Given the description of an element on the screen output the (x, y) to click on. 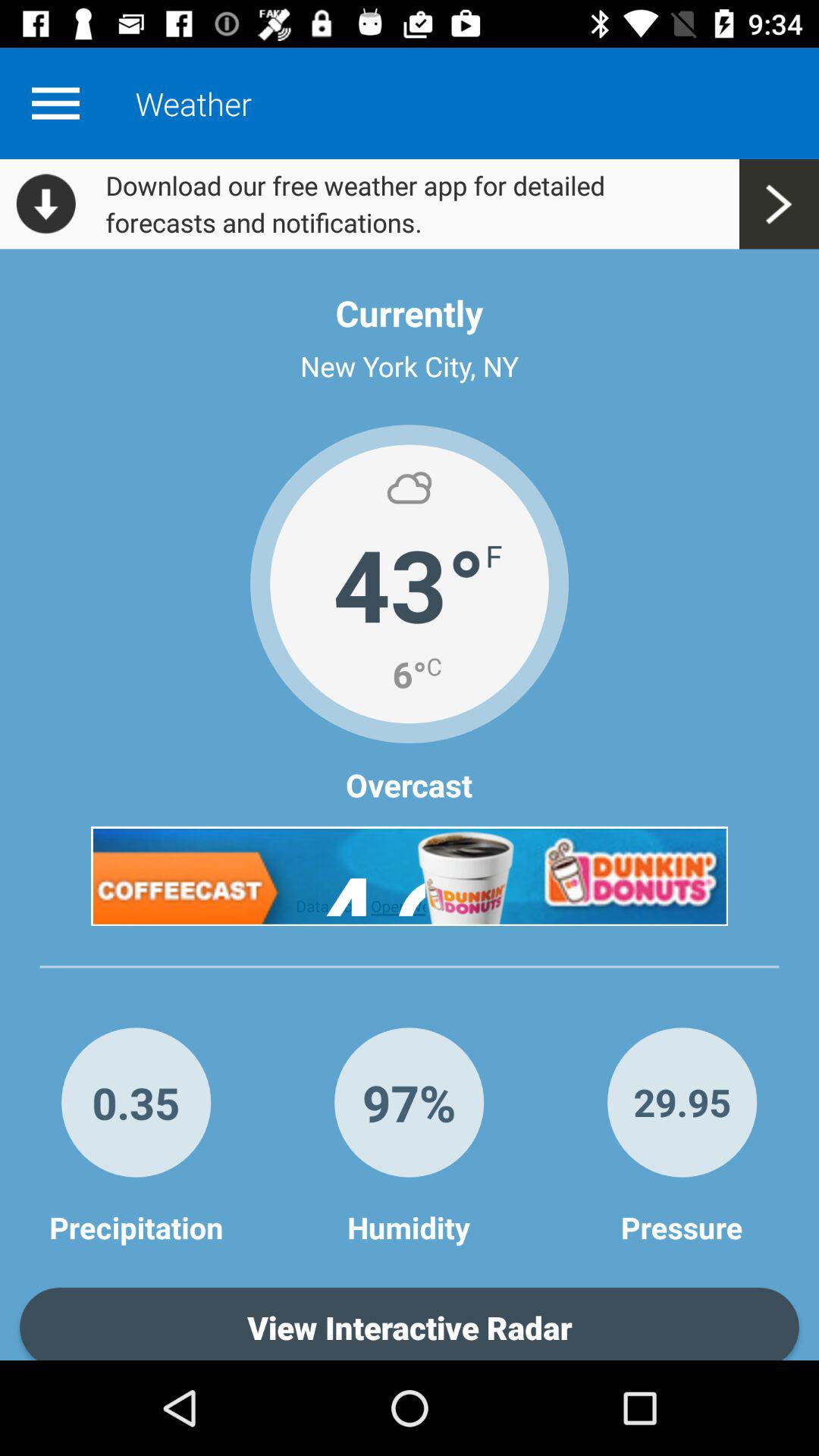
open menu (55, 103)
